Given the description of an element on the screen output the (x, y) to click on. 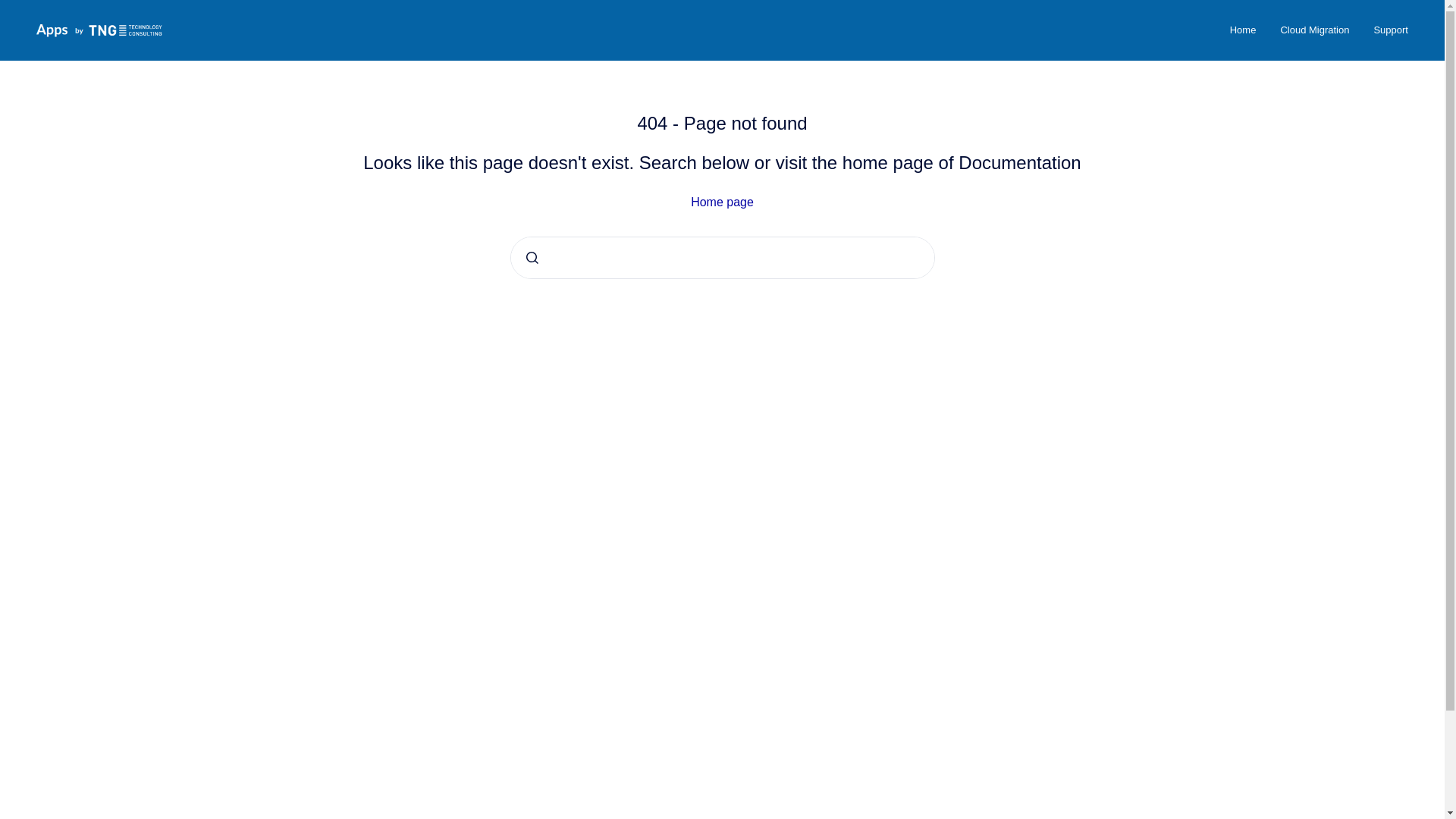
Home (1242, 29)
Go to homepage (98, 30)
Support (1391, 29)
Home page (722, 201)
Cloud Migration (1314, 29)
